Given the description of an element on the screen output the (x, y) to click on. 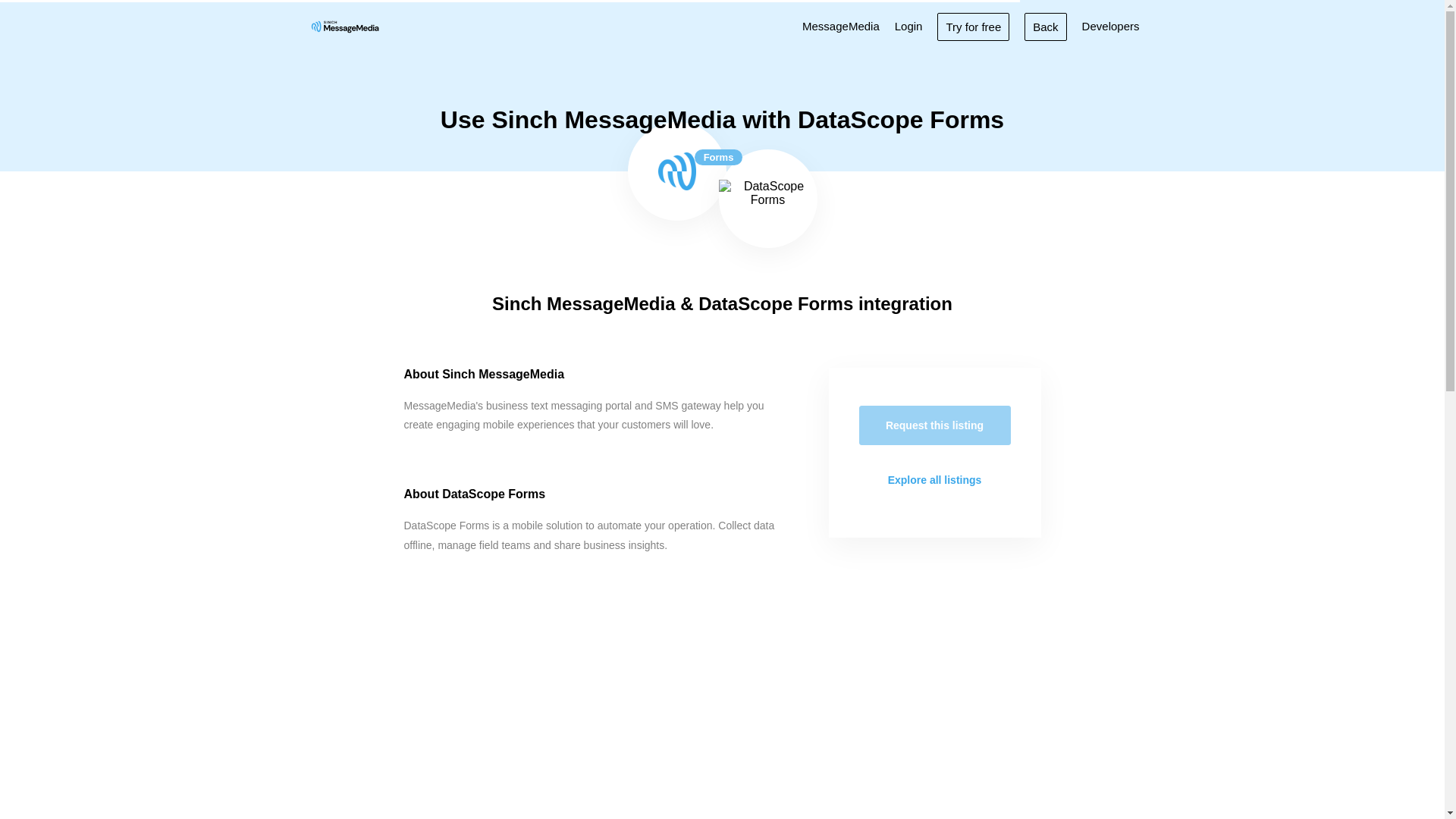
Request this listing (934, 425)
Back (1045, 26)
DataScope Forms (767, 198)
Login (909, 25)
Try for free (973, 26)
Sinch MessageMedia (344, 26)
Sinch MessageMedia (676, 171)
MessageMedia (840, 25)
Developers (1110, 25)
Explore all listings (934, 479)
